Given the description of an element on the screen output the (x, y) to click on. 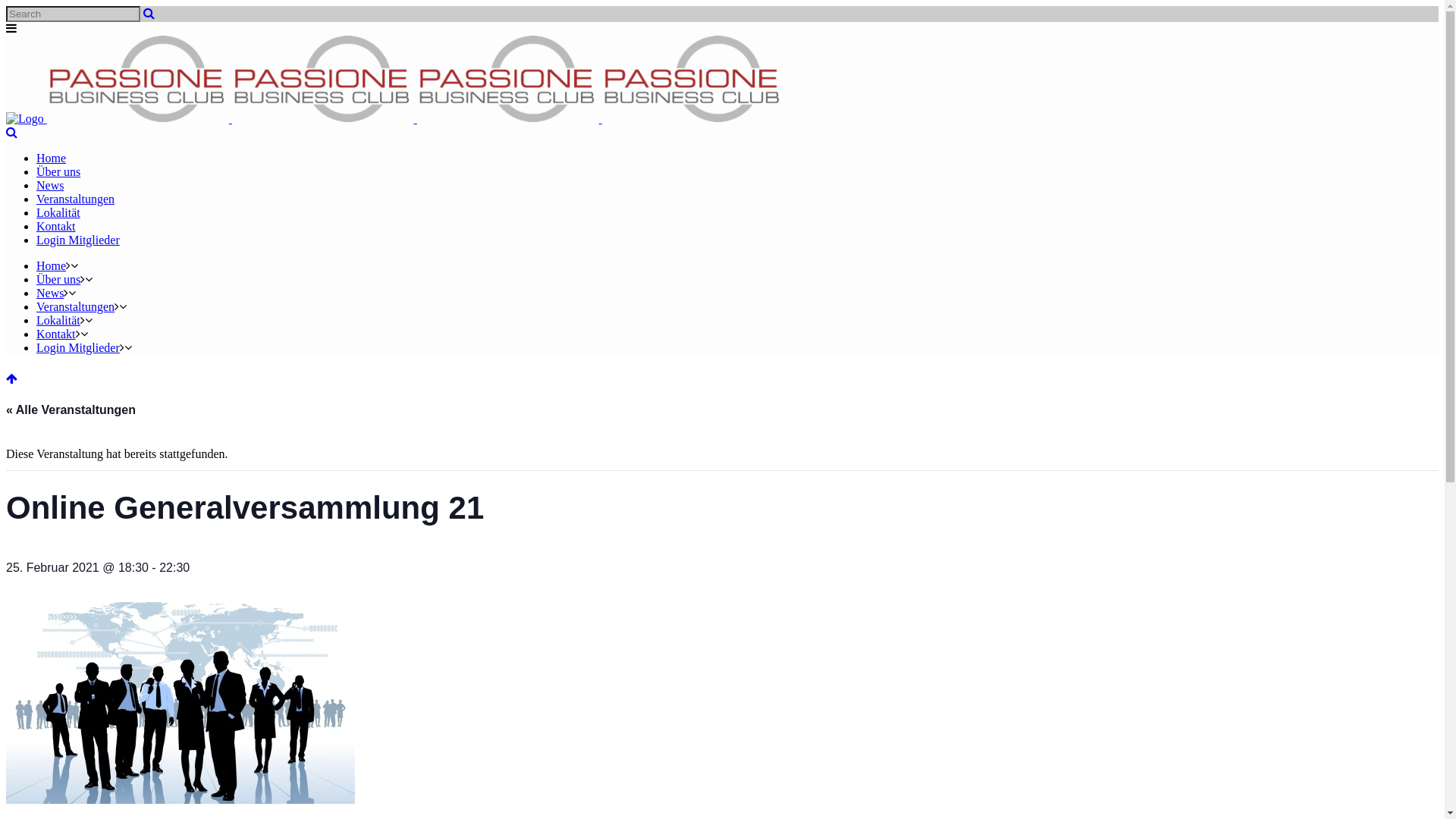
Home Element type: text (50, 265)
Kontakt Element type: text (55, 225)
Veranstaltungen Element type: text (75, 198)
Kontakt Element type: text (55, 333)
News Element type: text (49, 184)
Veranstaltungen Element type: text (75, 306)
News Element type: text (49, 292)
Login Mitglieder Element type: text (77, 239)
Login Mitglieder Element type: text (77, 347)
Home Element type: text (50, 157)
